Given the description of an element on the screen output the (x, y) to click on. 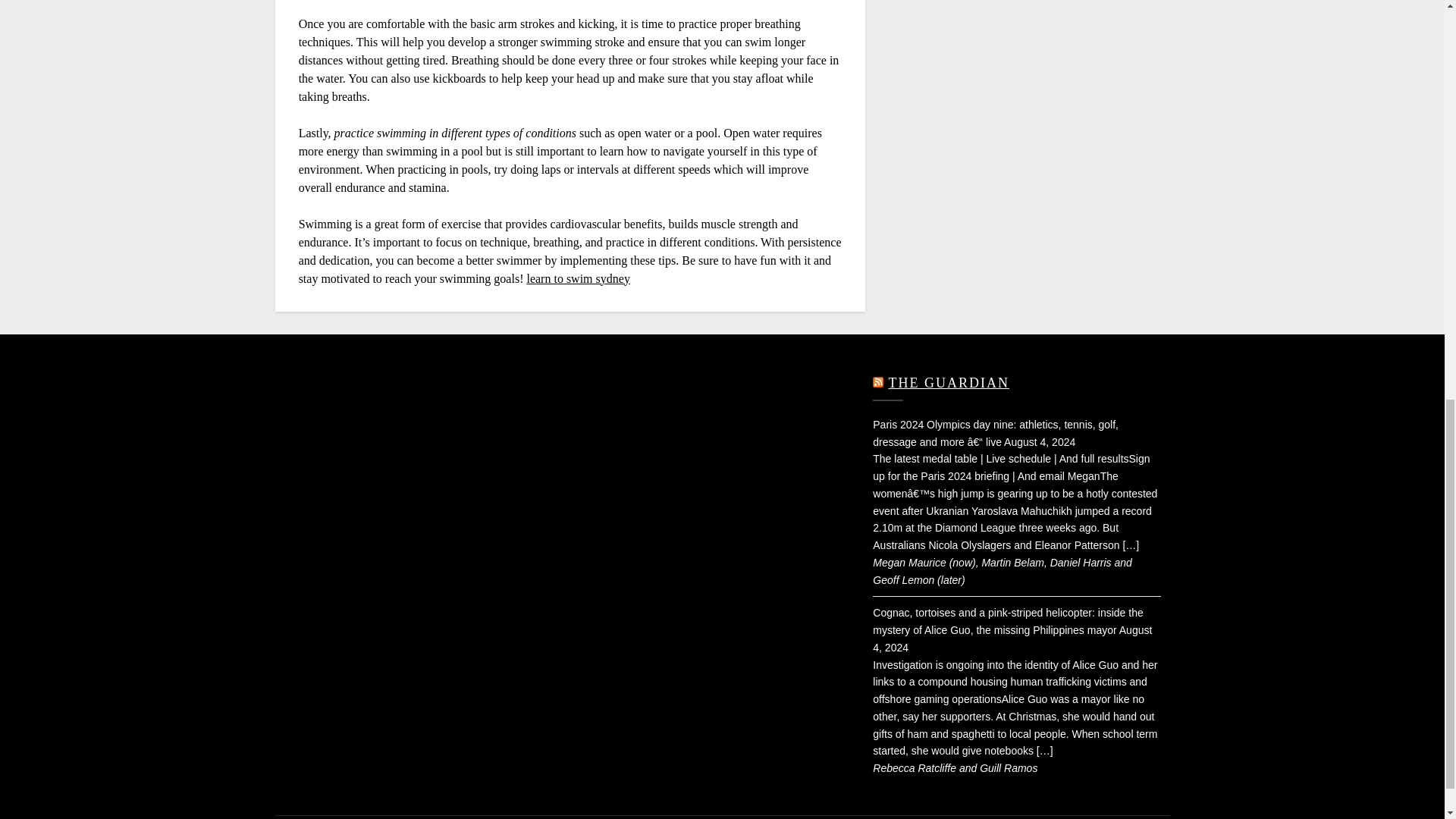
THE GUARDIAN (948, 382)
learn to swim sydney (576, 277)
